Given the description of an element on the screen output the (x, y) to click on. 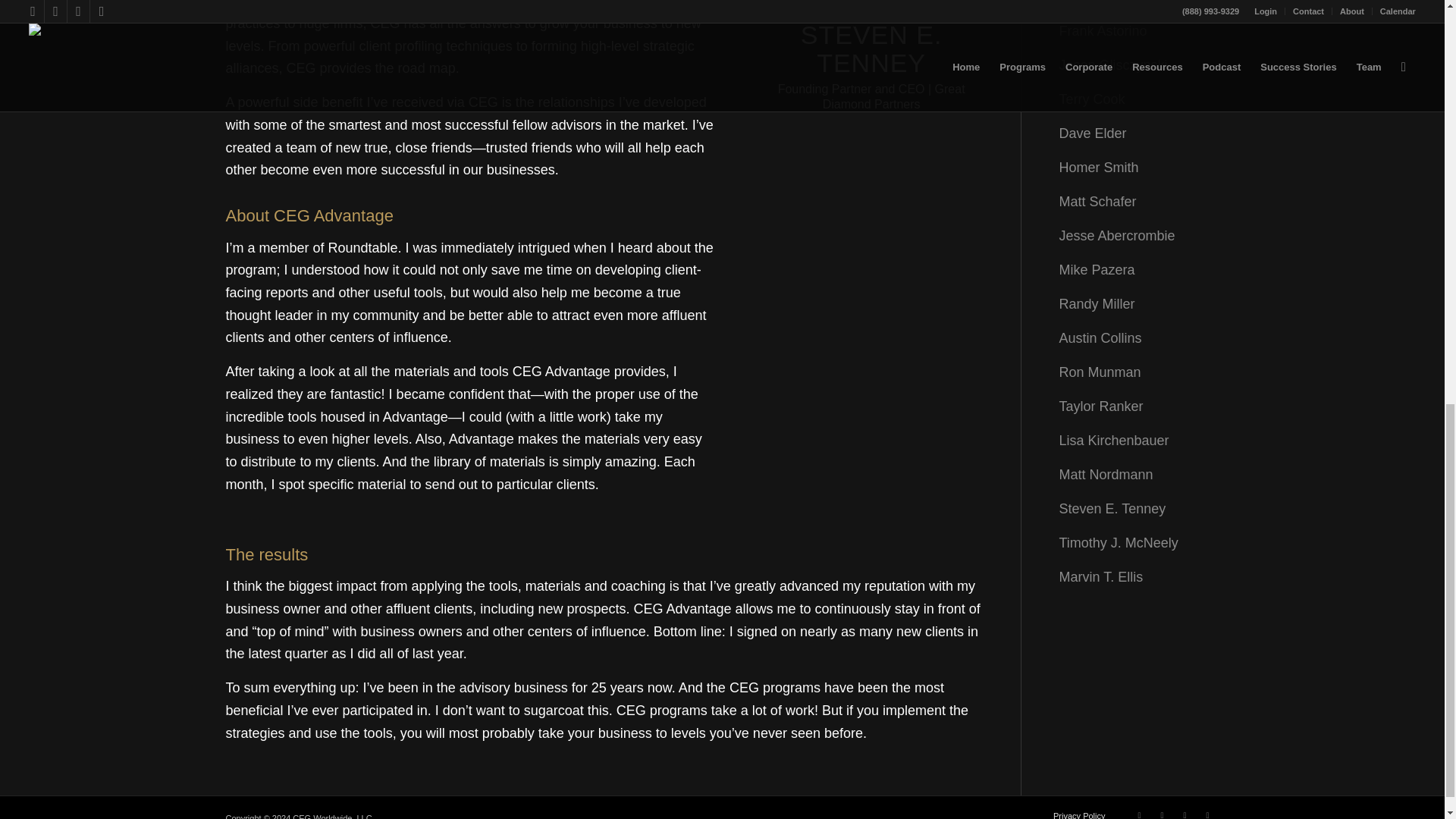
Taylor Ranker (1100, 406)
Matt Nordmann (1105, 474)
Frank Astorino (1102, 30)
Facebook (1162, 811)
Ron Munman (1099, 372)
Marvin T. Ellis (1100, 575)
Lisa Kirchenbauer (1113, 440)
Austin Collins (1099, 337)
Randy Miller (1096, 304)
Dave Elder (1091, 133)
